Given the description of an element on the screen output the (x, y) to click on. 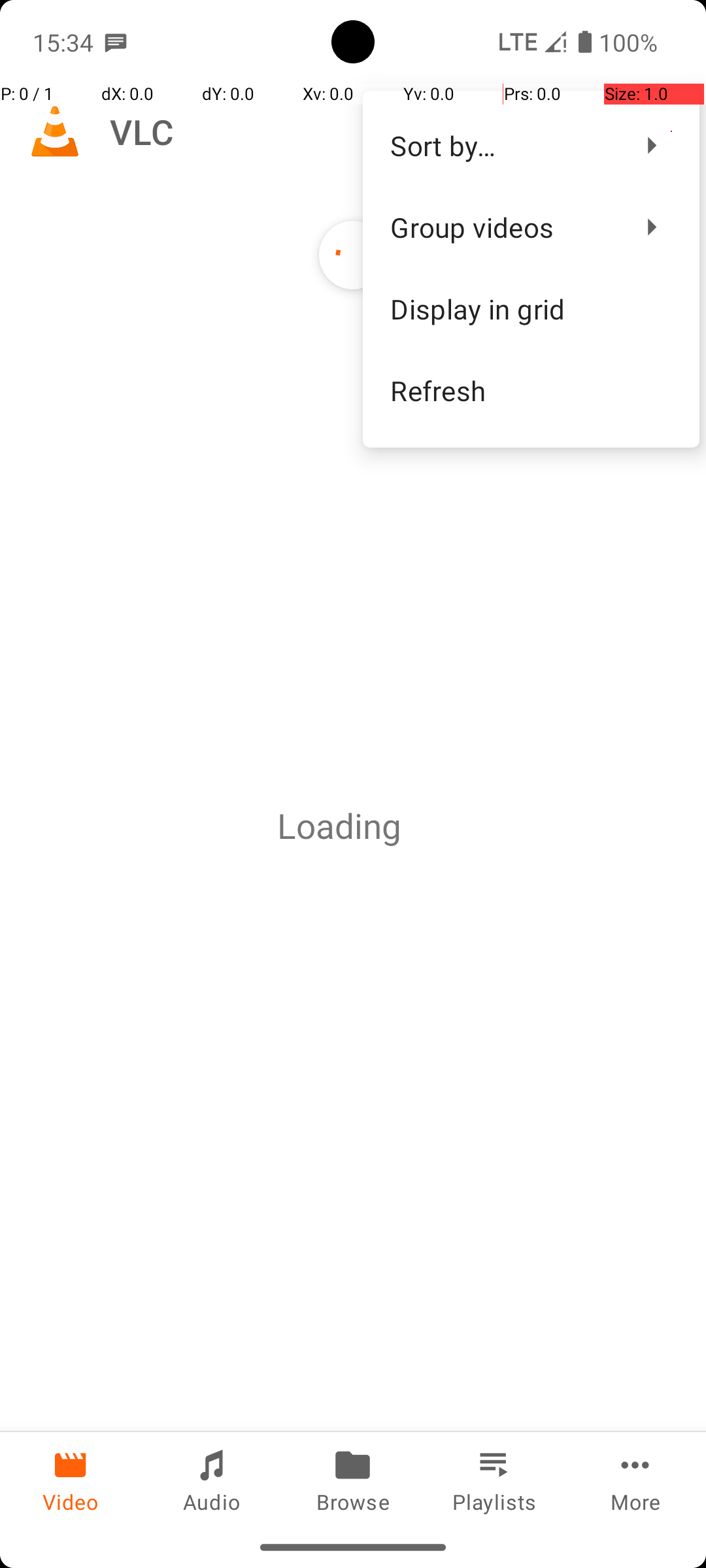
Group videos Element type: android.widget.TextView (503, 226)
Display in grid Element type: android.widget.TextView (531, 308)
